Given the description of an element on the screen output the (x, y) to click on. 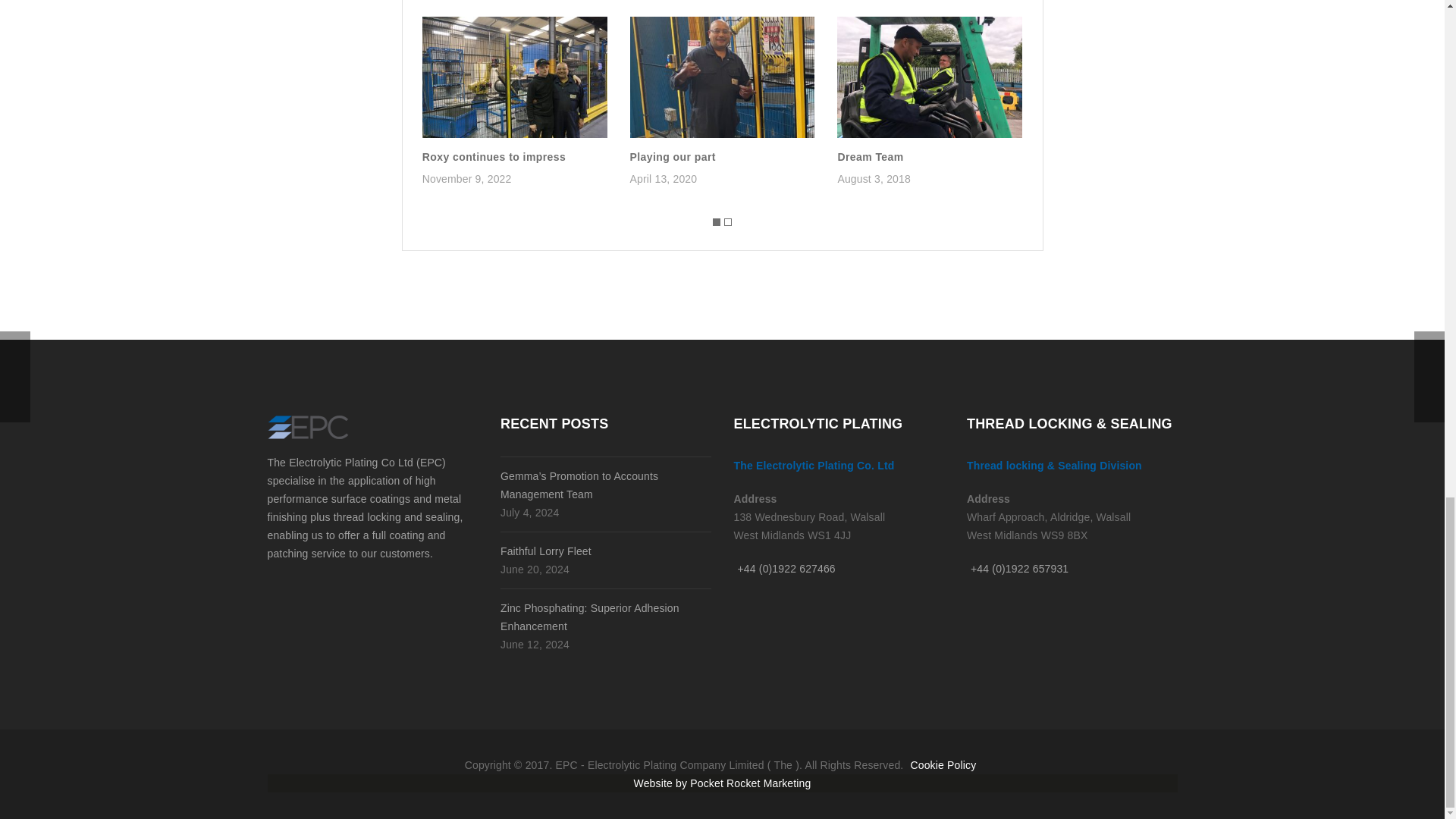
Just another WordPress site (306, 426)
